Given the description of an element on the screen output the (x, y) to click on. 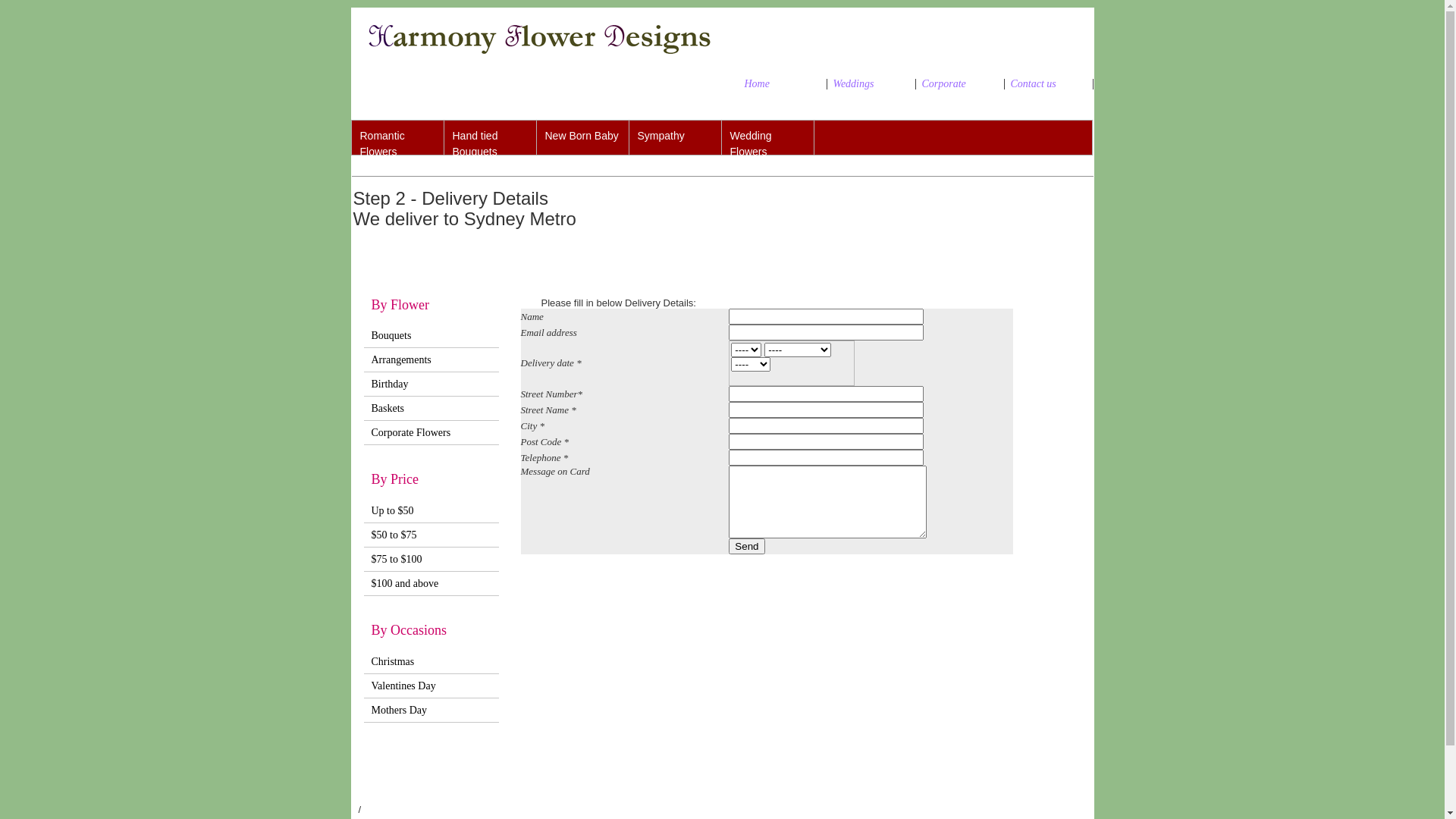
Romantic Flowers Element type: text (397, 137)
Wedding Flowers Element type: text (767, 137)
$75 to $100 Element type: text (431, 559)
Valentines Day Element type: text (431, 685)
Christmas Element type: text (431, 661)
$100 and above Element type: text (431, 583)
Bouquets Element type: text (431, 335)
Sympathy Element type: text (675, 137)
Contact us Element type: text (1048, 83)
Weddings Element type: text (870, 83)
Corporate Flowers Element type: text (431, 432)
$50 to $75 Element type: text (431, 535)
Hand tied Bouquets Element type: text (490, 137)
Home Element type: text (782, 83)
Send Element type: text (746, 546)
Mothers Day Element type: text (431, 709)
Birthday Element type: text (431, 384)
New Born Baby Element type: text (582, 137)
Up to $50 Element type: text (431, 510)
Corporate Element type: text (960, 83)
Baskets Element type: text (431, 408)
Arrangements Element type: text (431, 360)
